Given the description of an element on the screen output the (x, y) to click on. 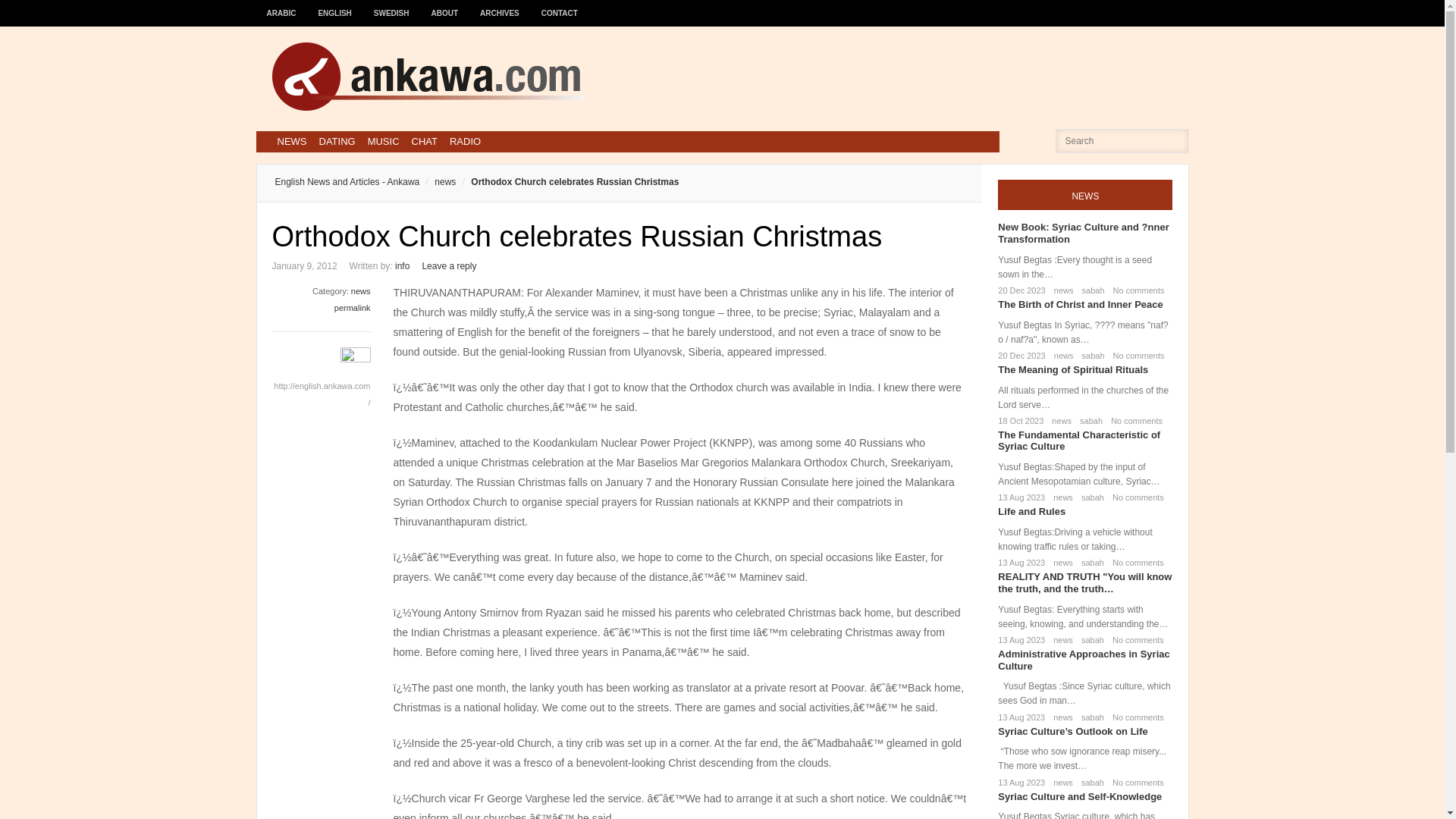
ENGLISH (334, 5)
ARCHIVES (499, 5)
ARABIC (281, 5)
No comments (1133, 420)
Life and Rules (1031, 511)
No comments (1134, 497)
sabah (1090, 355)
The Birth of Christ and Inner Peace (1079, 304)
RADIO (465, 141)
CHAT (425, 141)
No comments (1135, 355)
news (437, 181)
news (1058, 420)
The Birth of Christ and Inner Peace (1079, 304)
info (401, 266)
